Given the description of an element on the screen output the (x, y) to click on. 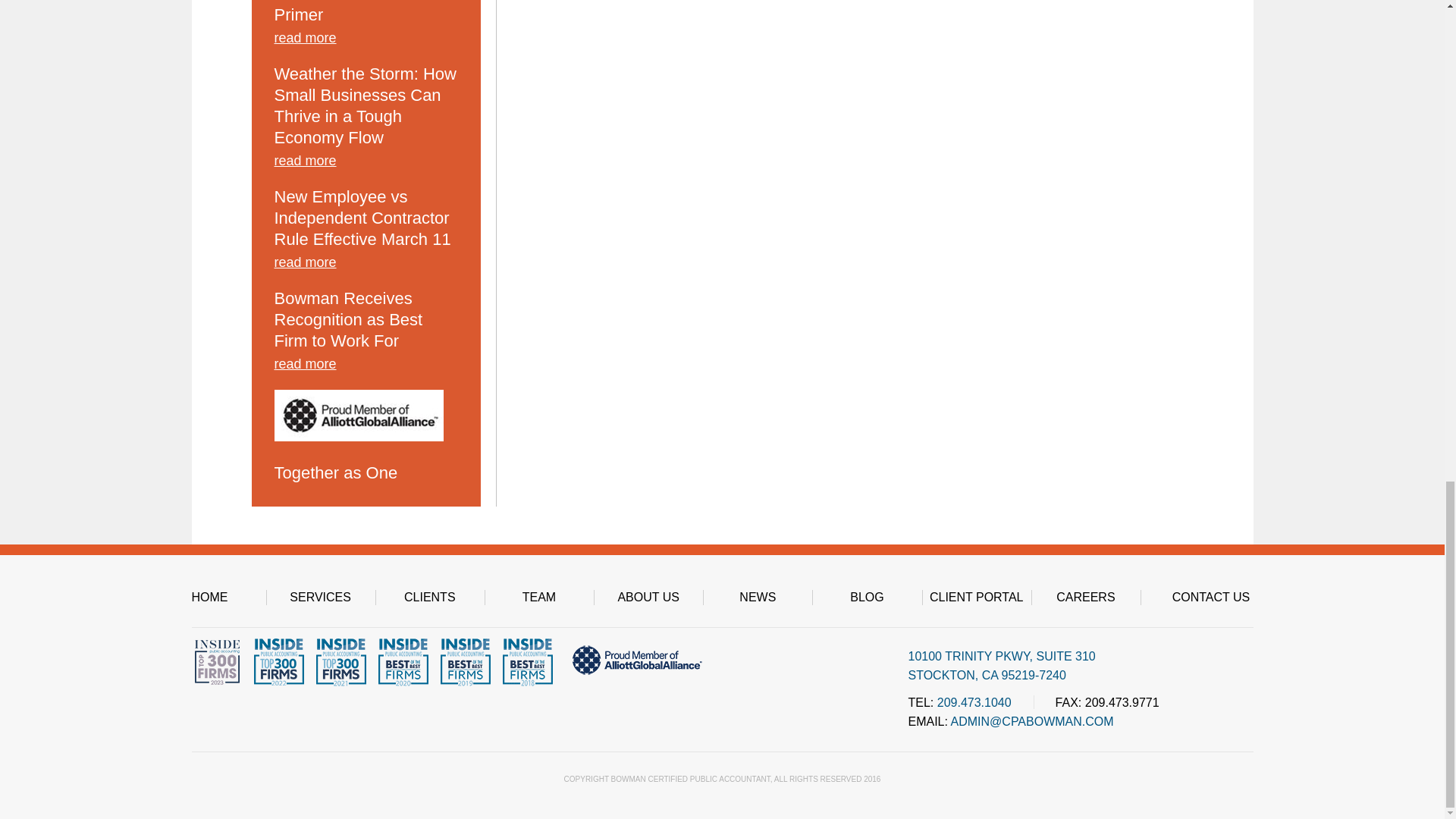
read more (366, 265)
read more (366, 40)
read more (366, 163)
read more (366, 367)
